Given the description of an element on the screen output the (x, y) to click on. 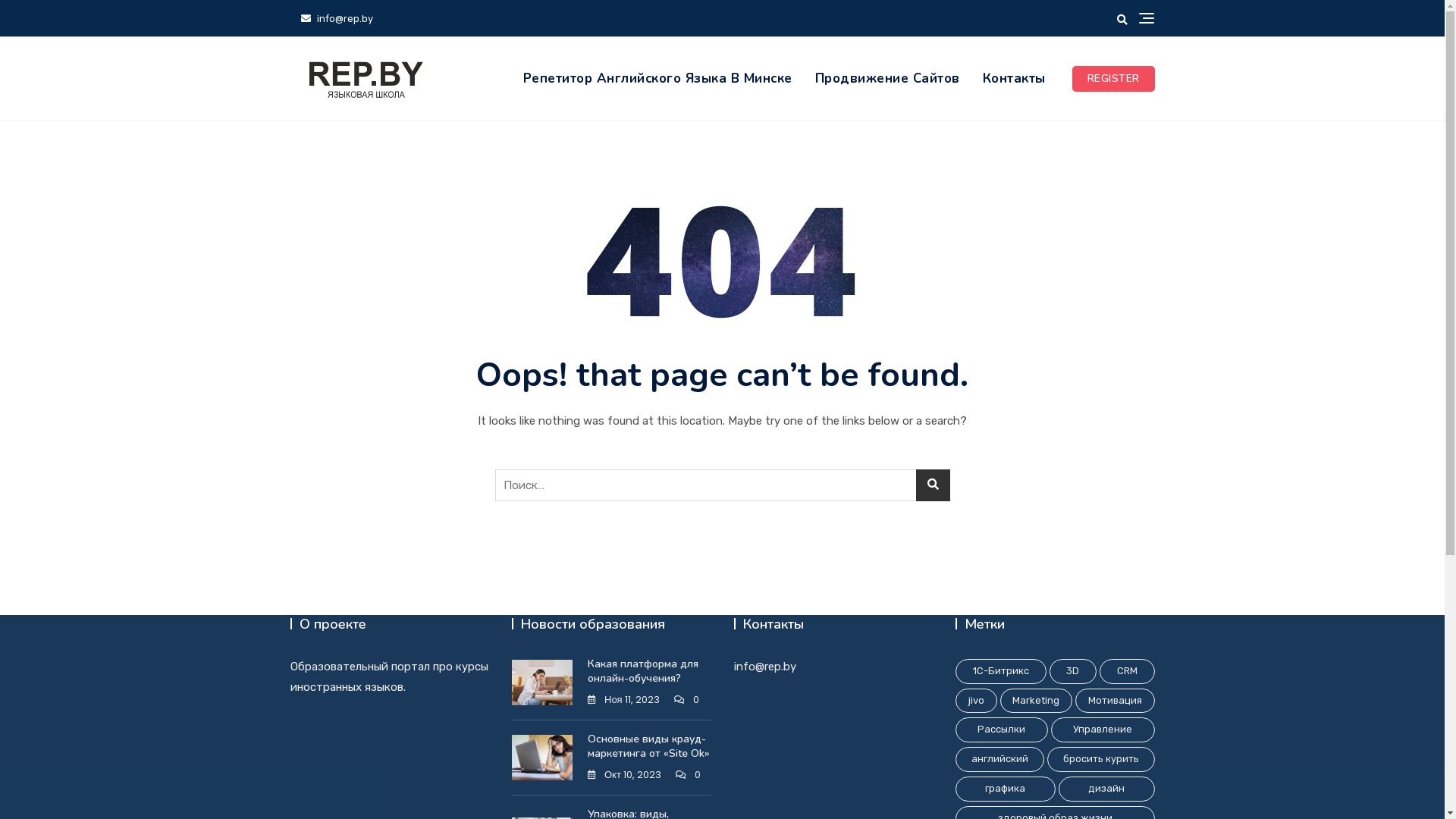
CRM Element type: text (1126, 671)
jivo Element type: text (976, 700)
info@rep.by Element type: text (336, 18)
Marketing Element type: text (1035, 700)
0 Element type: text (686, 700)
REGISTER Element type: text (1113, 78)
0 Element type: text (687, 775)
3D Element type: text (1073, 671)
